Given the description of an element on the screen output the (x, y) to click on. 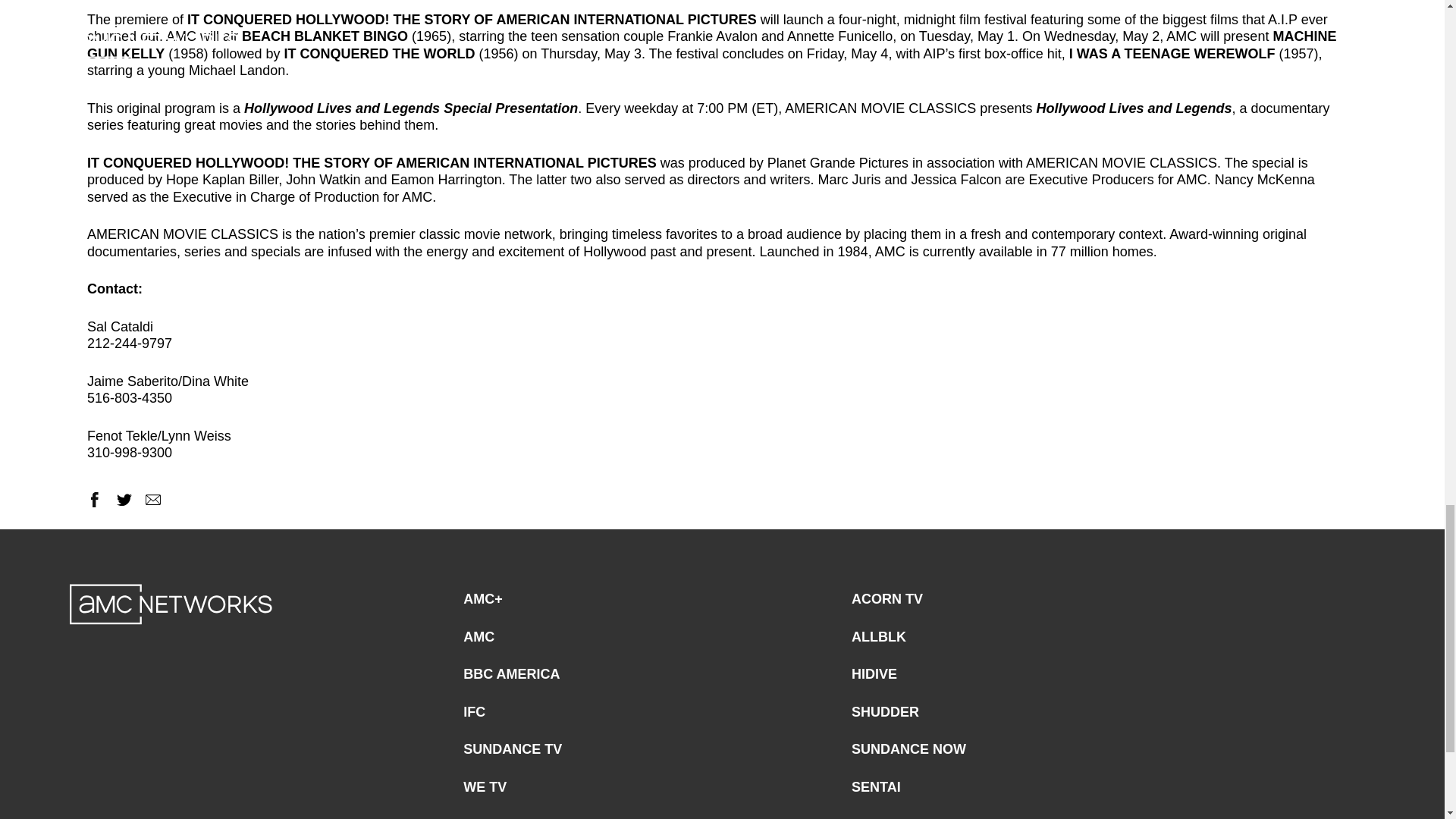
HIDIVE (873, 674)
AMC Networks (170, 603)
BBC AMERICA (511, 674)
AMC (479, 636)
IFC FILMS (496, 814)
ALLBLK (878, 636)
SUNDANCE TV (512, 748)
WE TV (484, 787)
ACORN TV (887, 599)
